Given the description of an element on the screen output the (x, y) to click on. 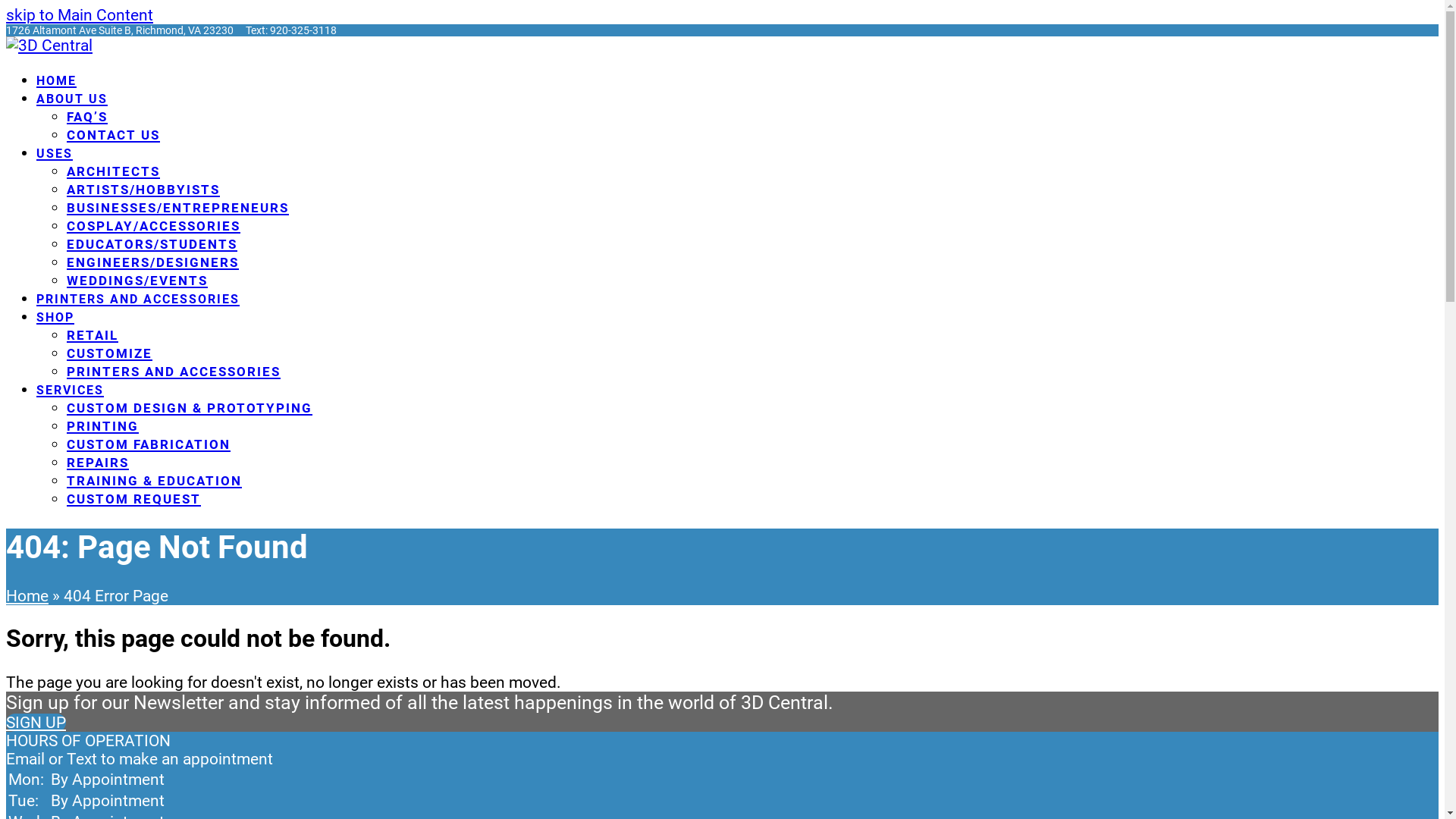
PRINTING Element type: text (102, 425)
HOME Element type: text (56, 79)
USES Element type: text (54, 152)
CUSTOM FABRICATION Element type: text (148, 443)
PRINTERS AND ACCESSORIES Element type: text (173, 370)
ARTISTS/HOBBYISTS Element type: text (142, 188)
ENGINEERS/DESIGNERS Element type: text (152, 261)
RETAIL Element type: text (92, 334)
Home Element type: text (27, 595)
skip to Main Content Element type: text (79, 15)
EDUCATORS/STUDENTS Element type: text (151, 243)
BUSINESSES/ENTREPRENEURS Element type: text (177, 206)
SHOP Element type: text (55, 316)
COSPLAY/ACCESSORIES Element type: text (153, 225)
REPAIRS Element type: text (97, 461)
SIGN UP Element type: text (35, 722)
WEDDINGS/EVENTS Element type: text (136, 279)
TRAINING & EDUCATION Element type: text (153, 479)
PRINTERS AND ACCESSORIES Element type: text (137, 297)
ABOUT US Element type: text (71, 97)
CUSTOM REQUEST Element type: text (133, 498)
CONTACT US Element type: text (113, 134)
CUSTOM DESIGN & PROTOTYPING Element type: text (189, 407)
ARCHITECTS Element type: text (113, 170)
SERVICES Element type: text (69, 388)
CUSTOMIZE Element type: text (109, 352)
